Given the description of an element on the screen output the (x, y) to click on. 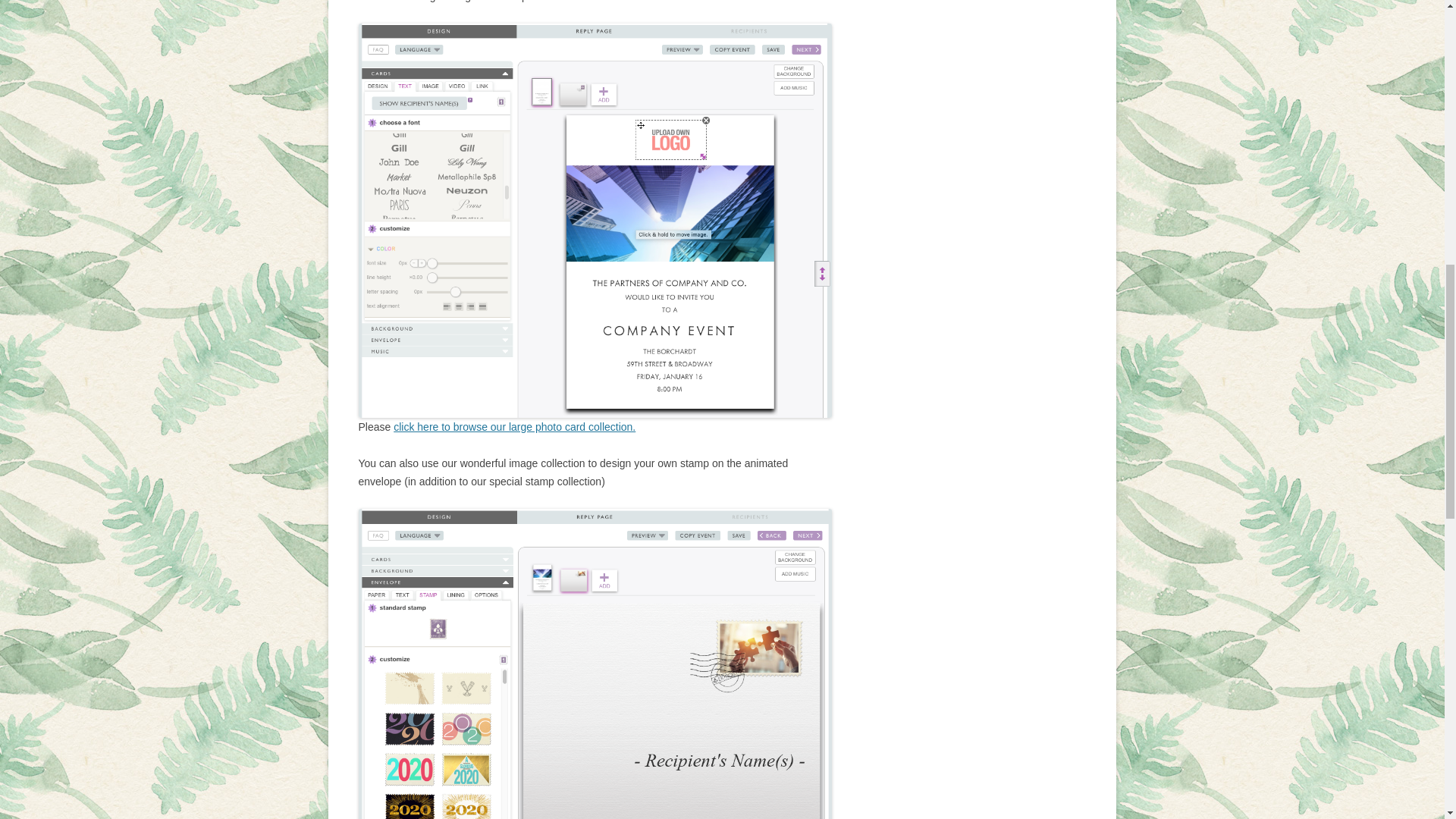
click here to browse our large photo card collection. (513, 426)
